Given the description of an element on the screen output the (x, y) to click on. 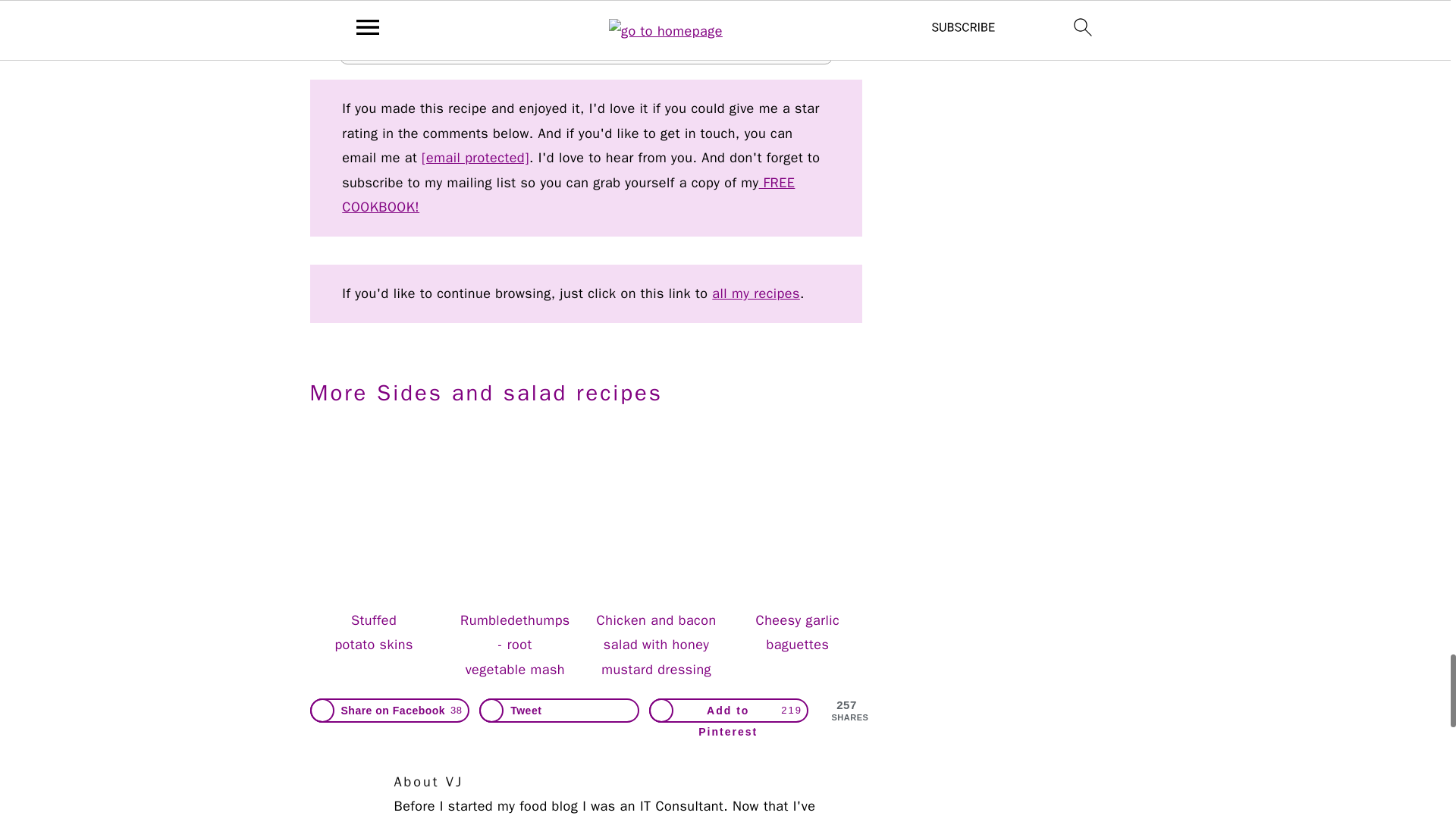
Share on Facebook (388, 710)
Share on X (559, 710)
Save to Pinterest (729, 710)
